Given the description of an element on the screen output the (x, y) to click on. 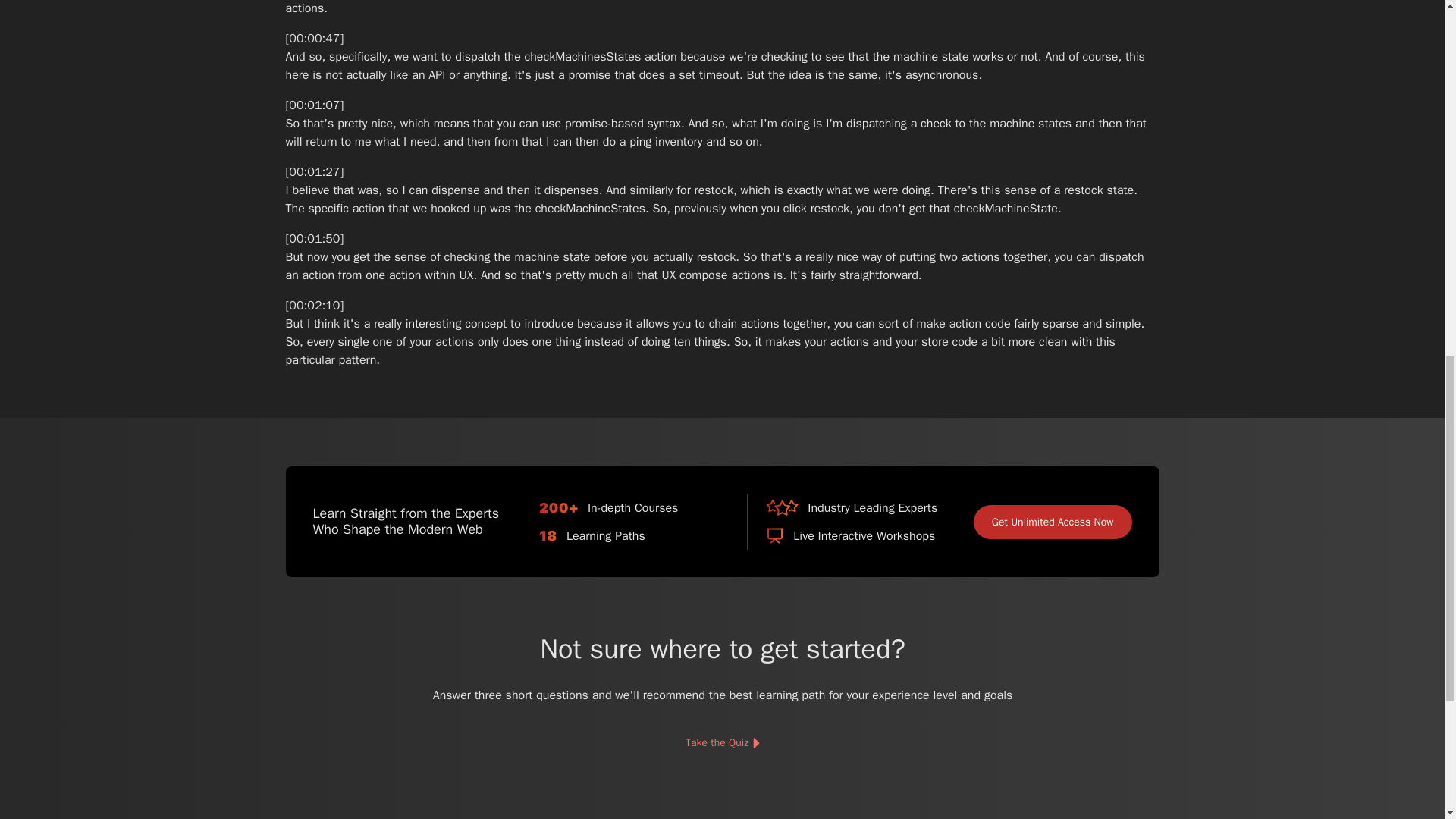
Get Unlimited Access Now (1053, 521)
Take the Quiz (720, 743)
